Given the description of an element on the screen output the (x, y) to click on. 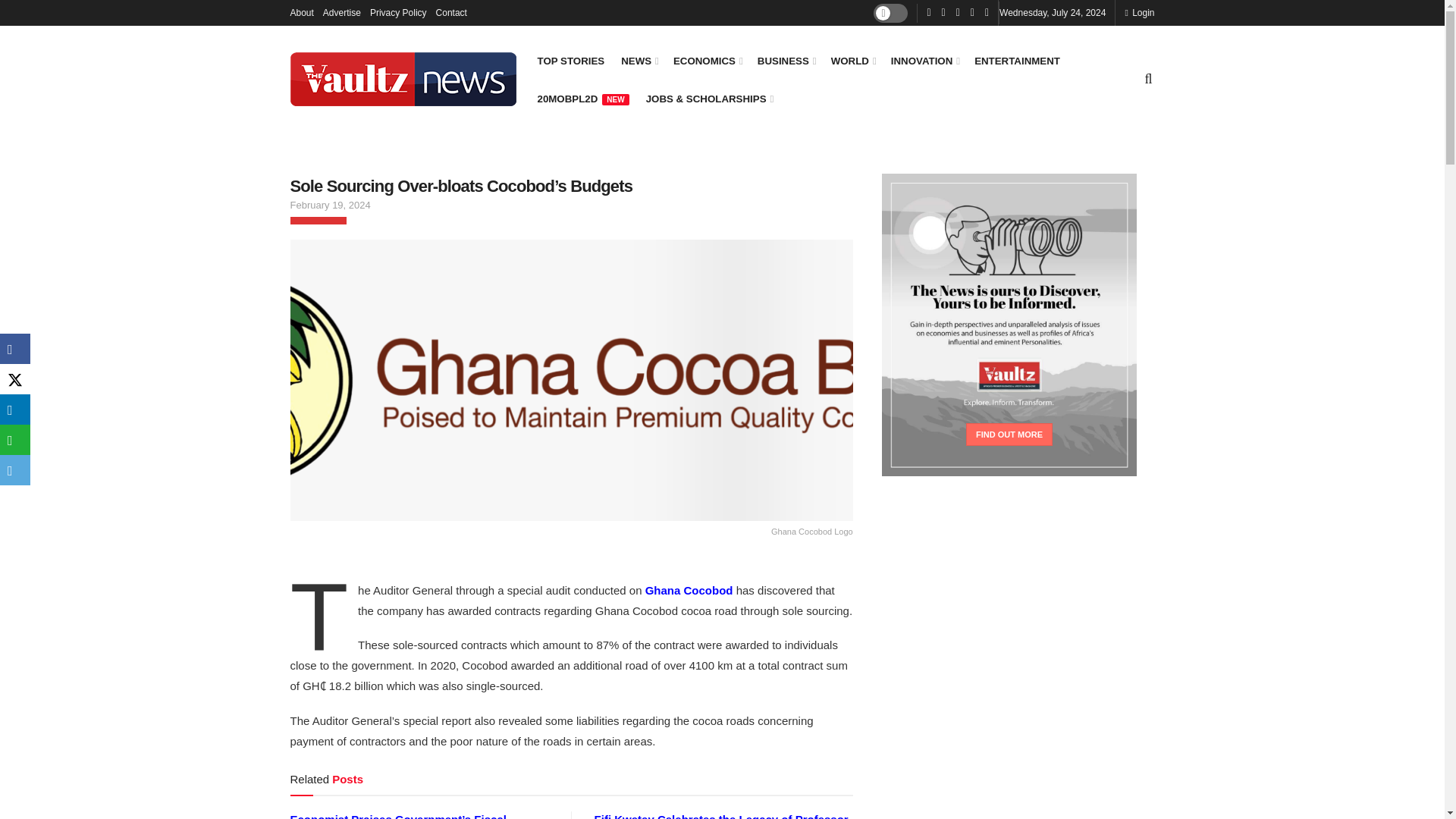
Advertise (342, 12)
Privacy Policy (397, 12)
TOP STORIES (570, 60)
ECONOMICS (706, 60)
About (301, 12)
NEWS (638, 60)
BUSINESS (785, 60)
Login (1139, 12)
FIND OUT MORE (1009, 434)
Contact (451, 12)
WORLD (853, 60)
INNOVATION (924, 60)
